Given the description of an element on the screen output the (x, y) to click on. 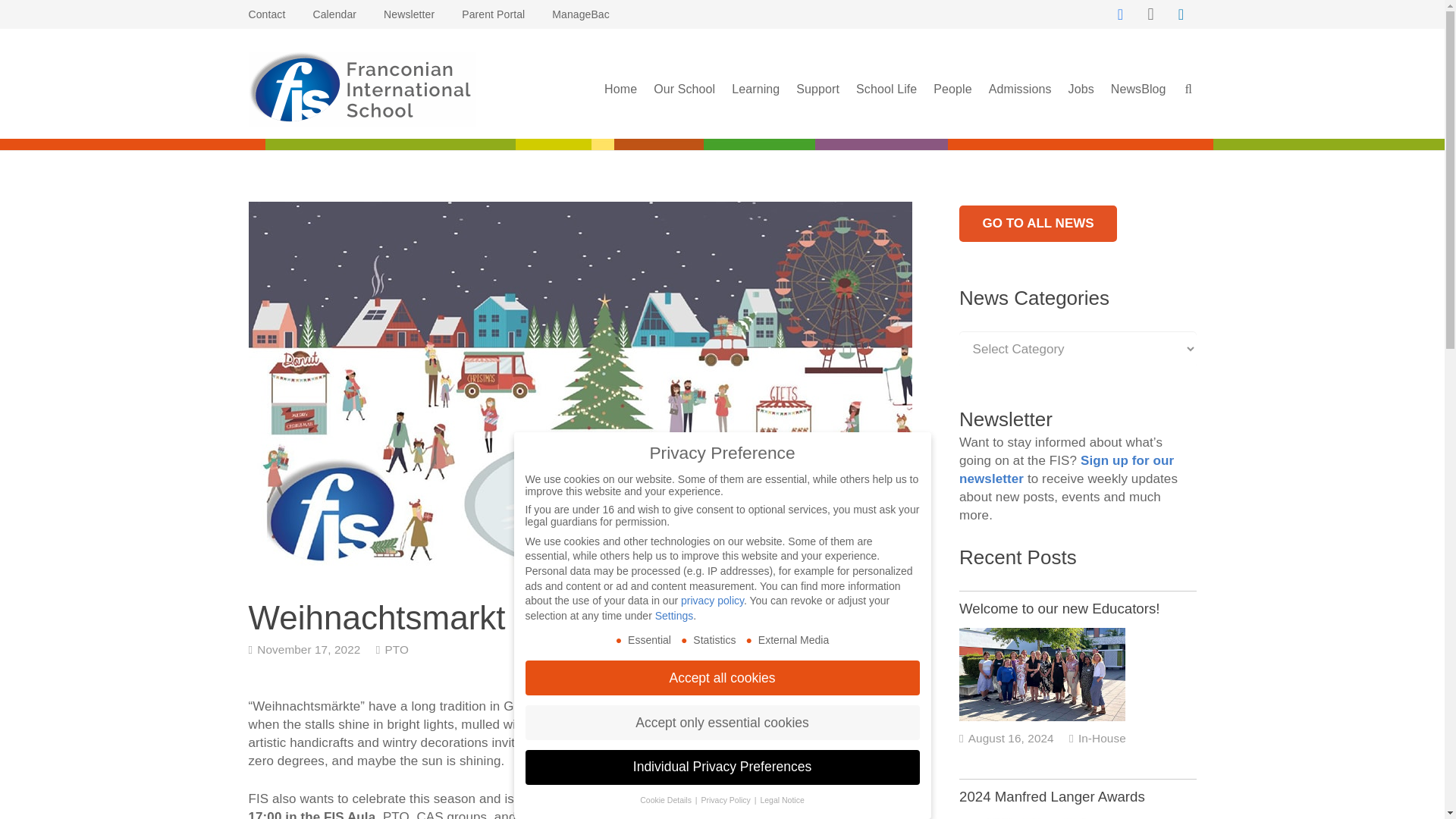
Calendar (334, 14)
Support (817, 89)
Parent Portal (492, 14)
Learning (755, 89)
Our School (684, 89)
Facebook (1120, 14)
Home (620, 89)
LinkedIn (1181, 14)
People (951, 89)
Contact (266, 14)
